Given the description of an element on the screen output the (x, y) to click on. 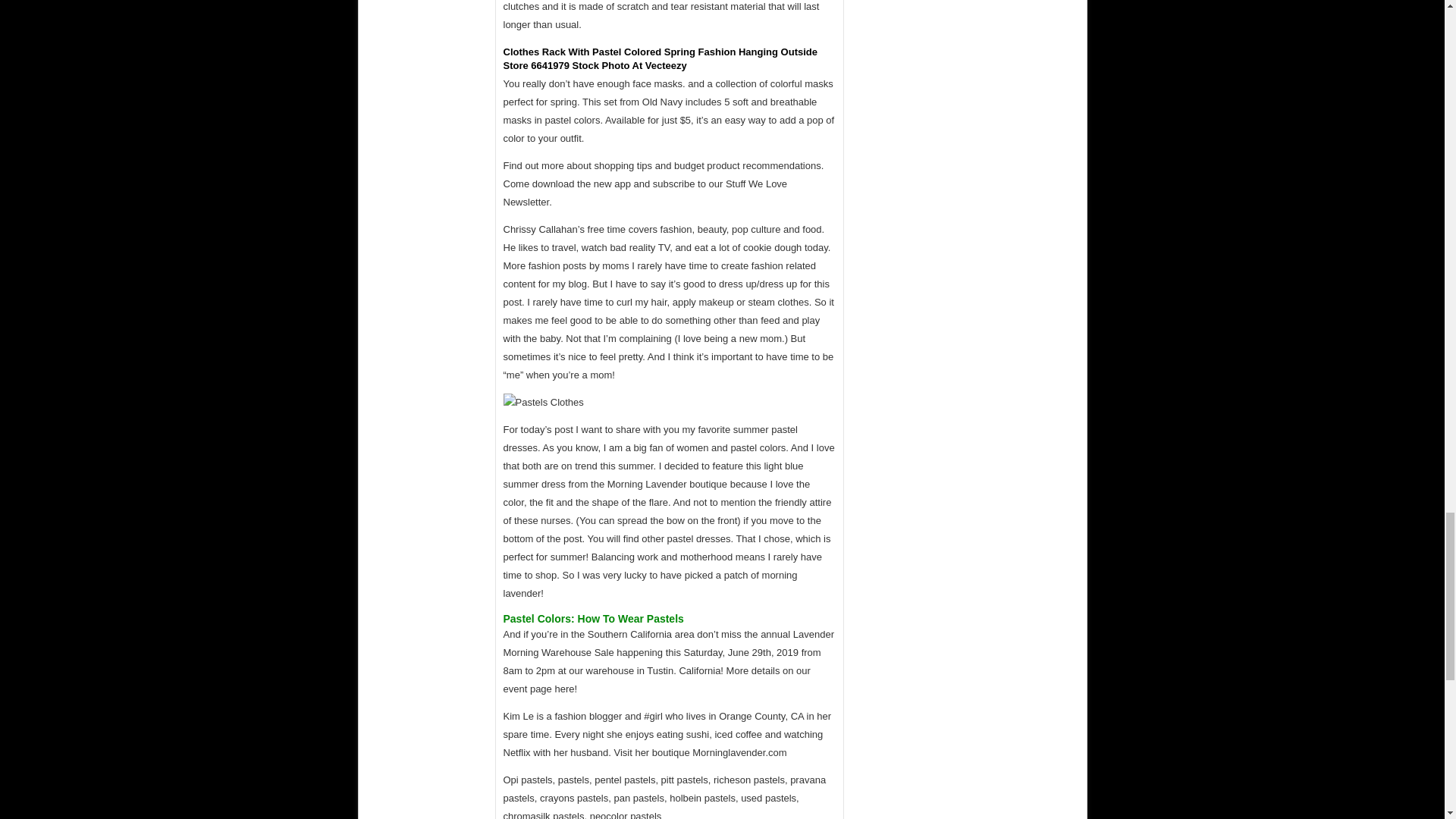
Pastels Clothes (543, 402)
